Given the description of an element on the screen output the (x, y) to click on. 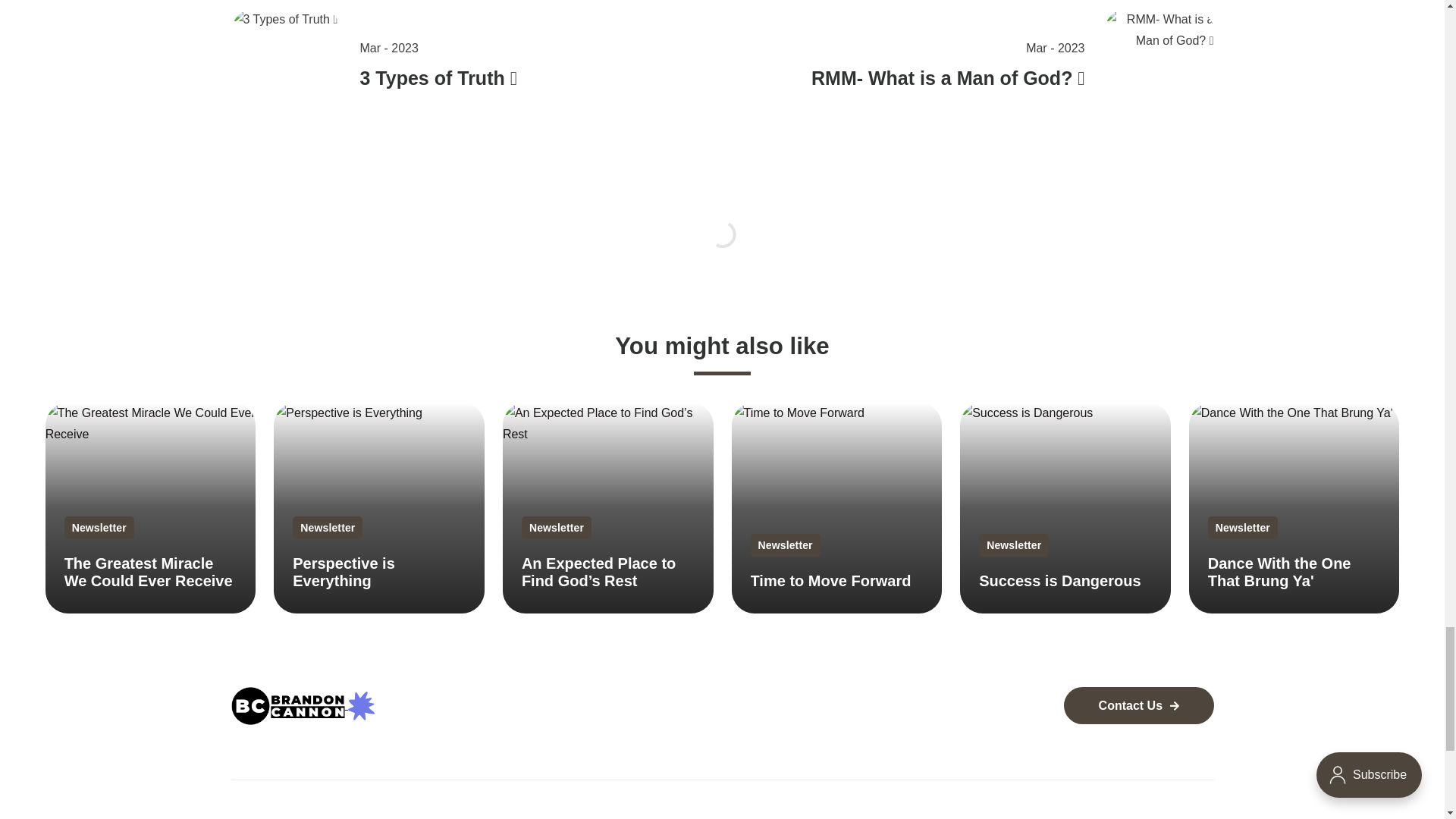
comments-frame (721, 252)
